Given the description of an element on the screen output the (x, y) to click on. 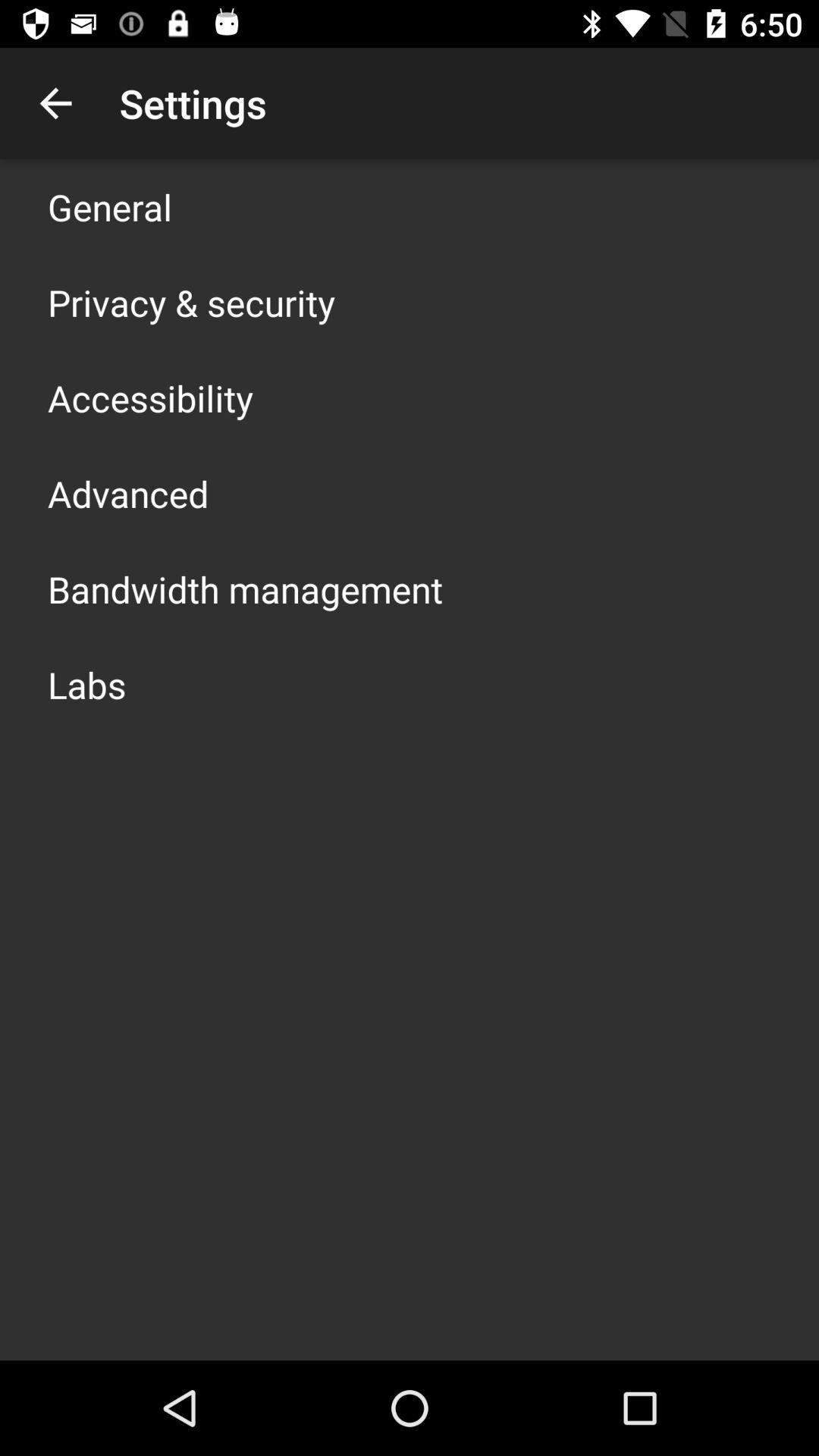
tap advanced app (127, 493)
